Given the description of an element on the screen output the (x, y) to click on. 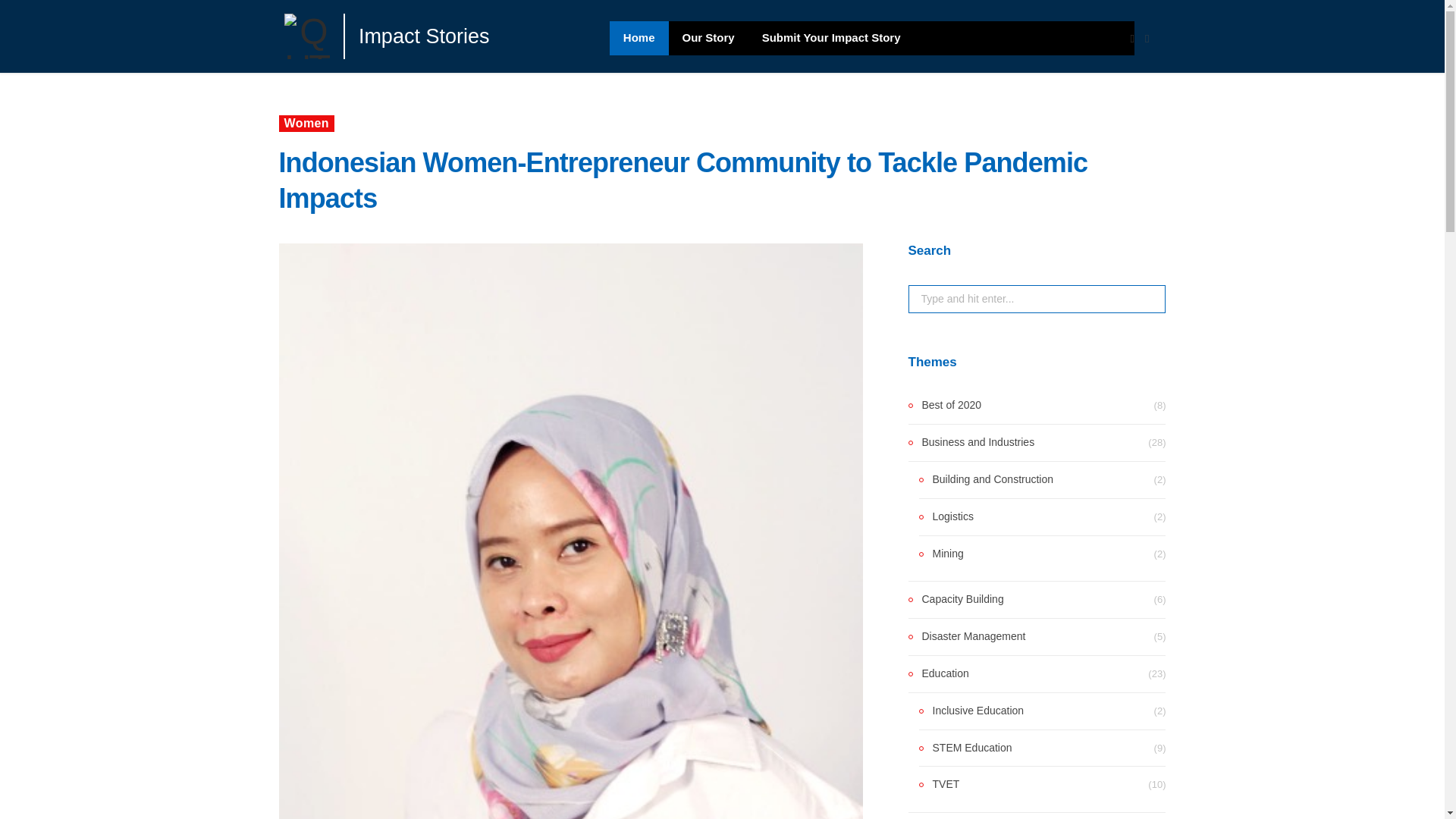
Home (639, 38)
STEM Education (964, 748)
Our Story (708, 38)
Women (306, 123)
Mining (940, 554)
Business and Industries (971, 443)
Impact Stories (417, 35)
Impact Stories (417, 35)
Search for: (1037, 298)
